Given the description of an element on the screen output the (x, y) to click on. 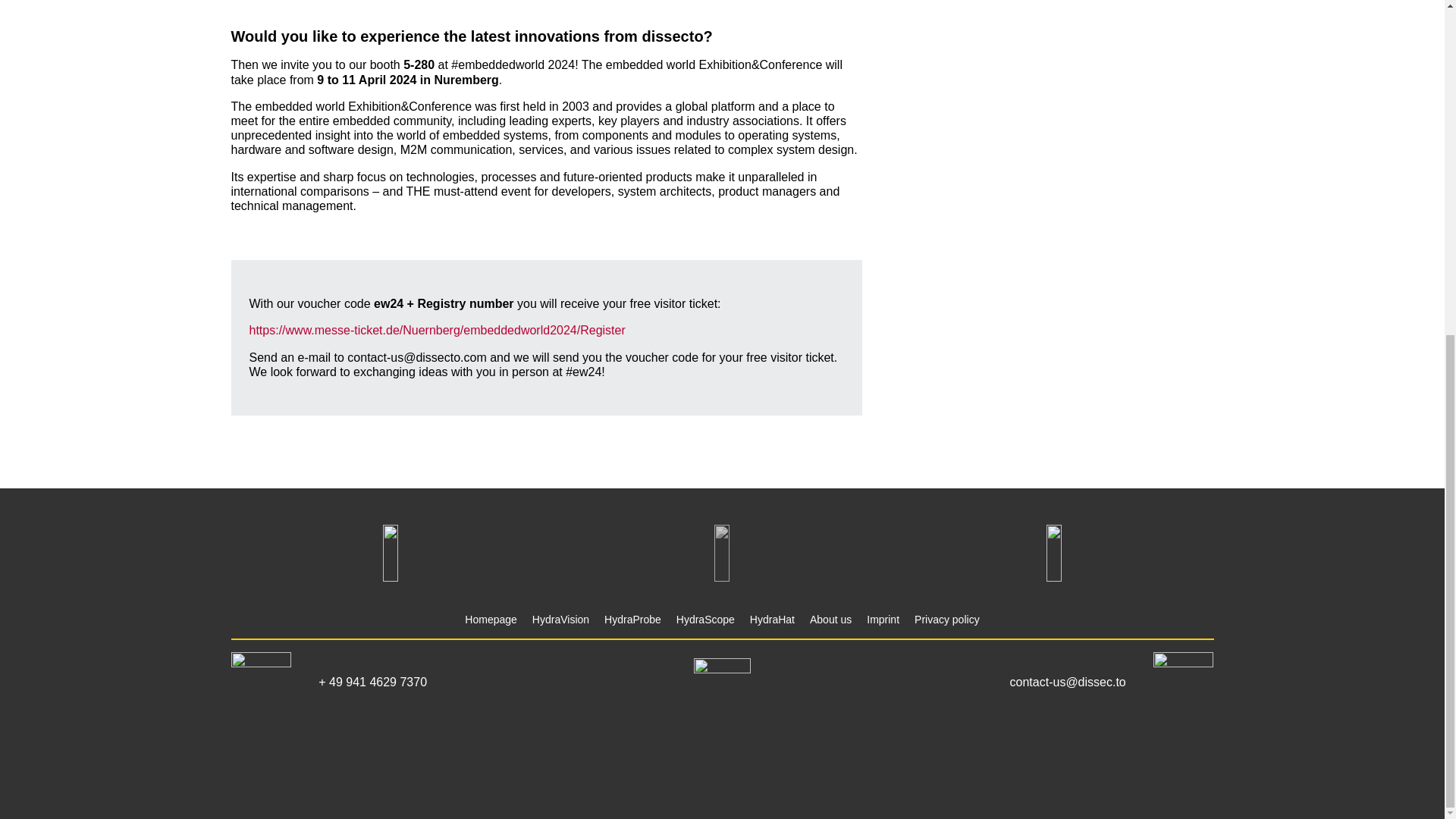
HydraHat (771, 619)
Privacy policy (946, 619)
HydraVision (560, 619)
HydraProbe (632, 619)
HydraScope (706, 619)
Imprint (882, 619)
Homepage (490, 619)
About us (830, 619)
